Given the description of an element on the screen output the (x, y) to click on. 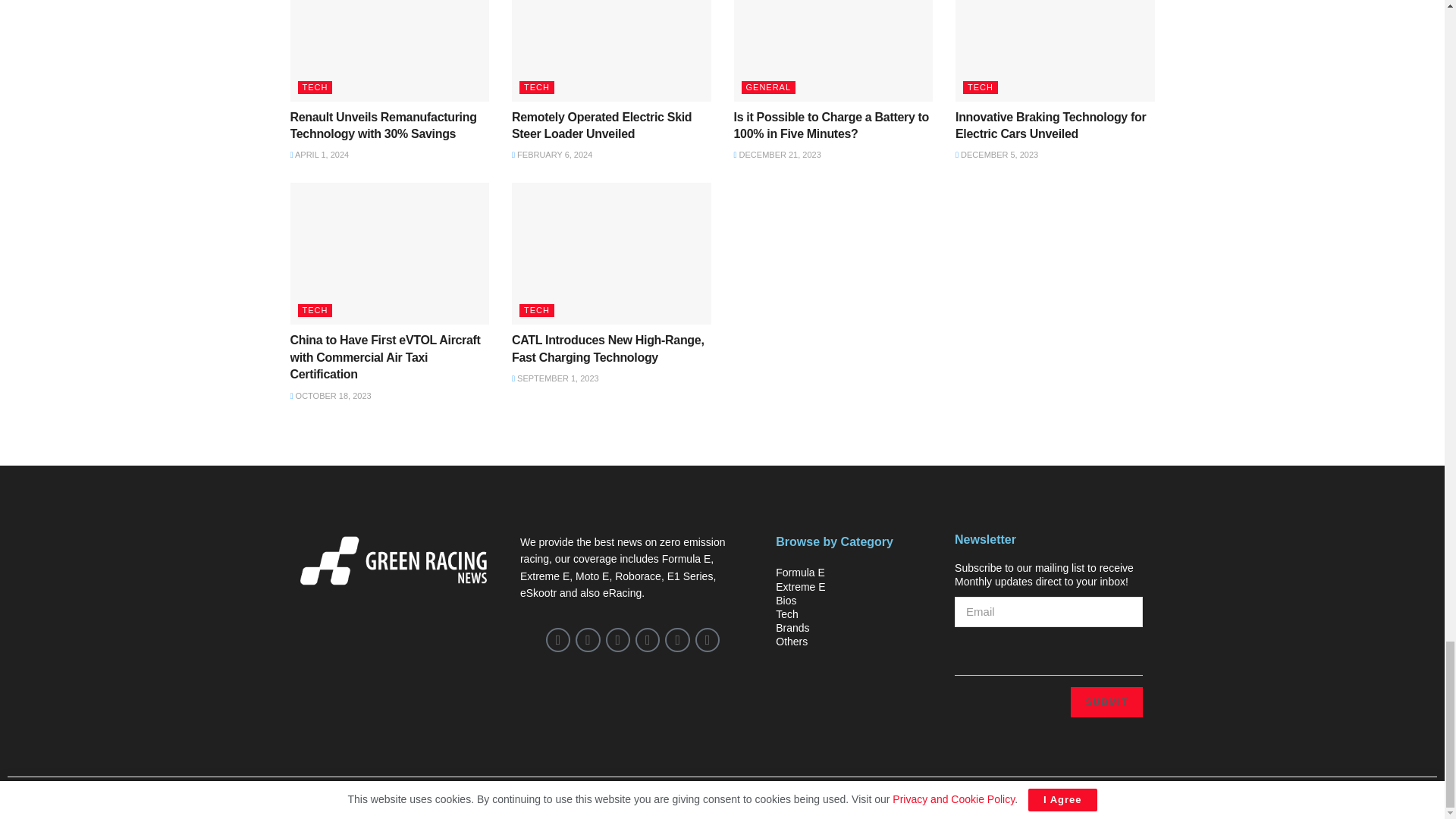
Submit (1106, 702)
